Given the description of an element on the screen output the (x, y) to click on. 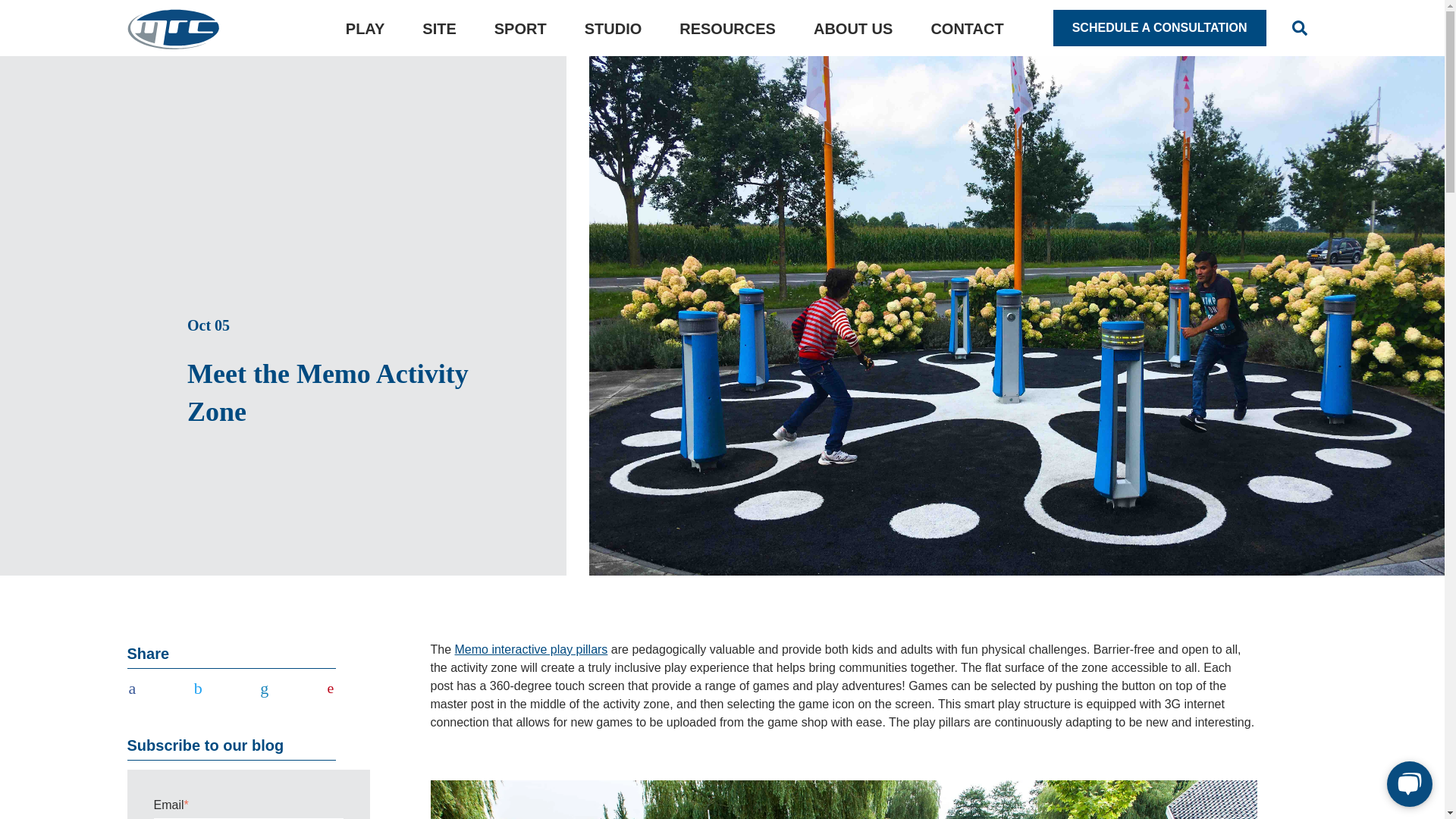
MRC Recreation (175, 28)
